Given the description of an element on the screen output the (x, y) to click on. 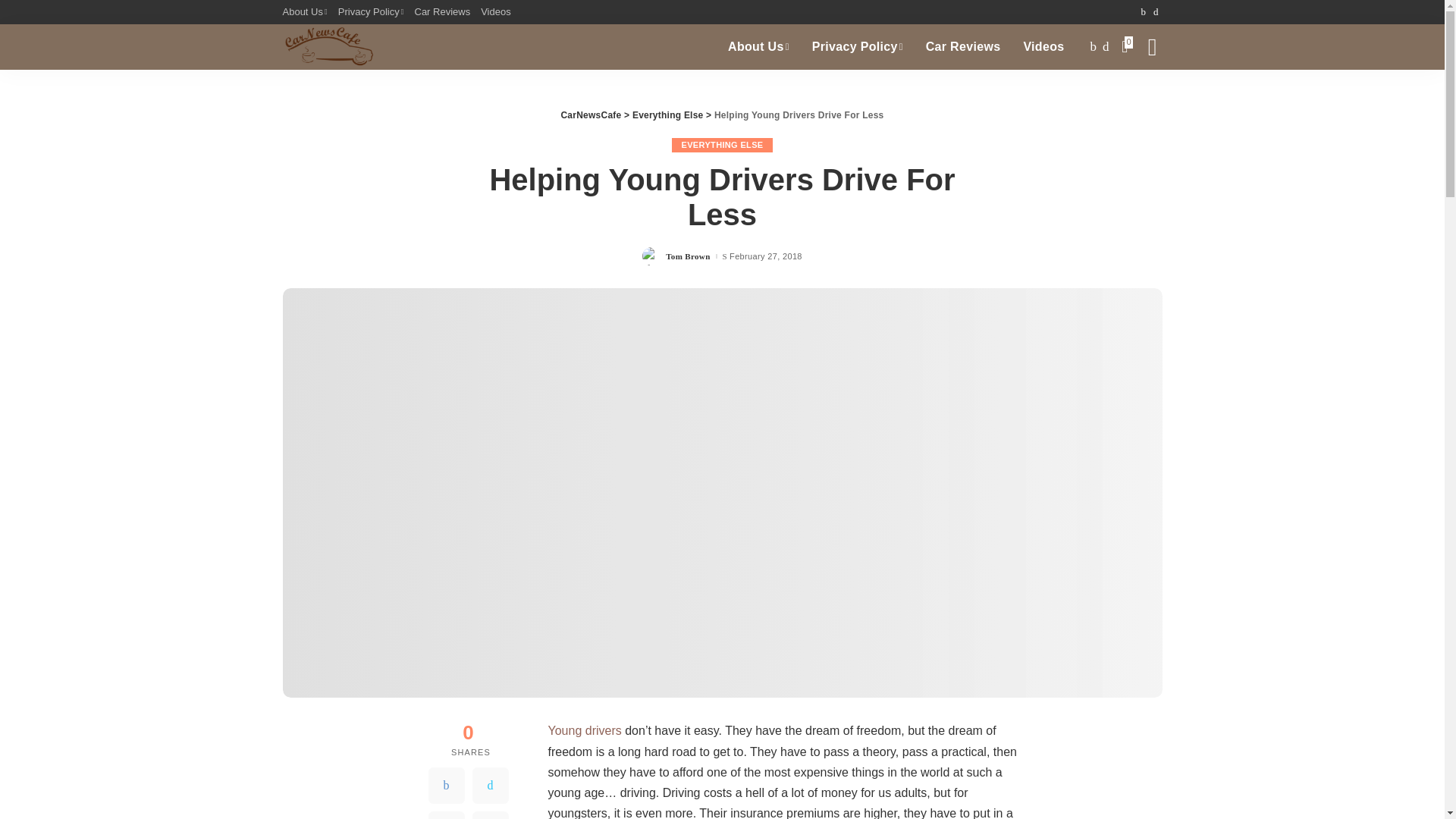
Videos (496, 12)
About Us (758, 46)
Search (1140, 97)
Facebook (446, 785)
2018-02-27T09:24:57-05:00 (765, 256)
CarNewsCafe (328, 46)
Privacy Policy (371, 12)
Go to the Everything Else Category archives. (667, 114)
Go to CarNewsCafe. (590, 114)
Pinterest (446, 815)
